Given the description of an element on the screen output the (x, y) to click on. 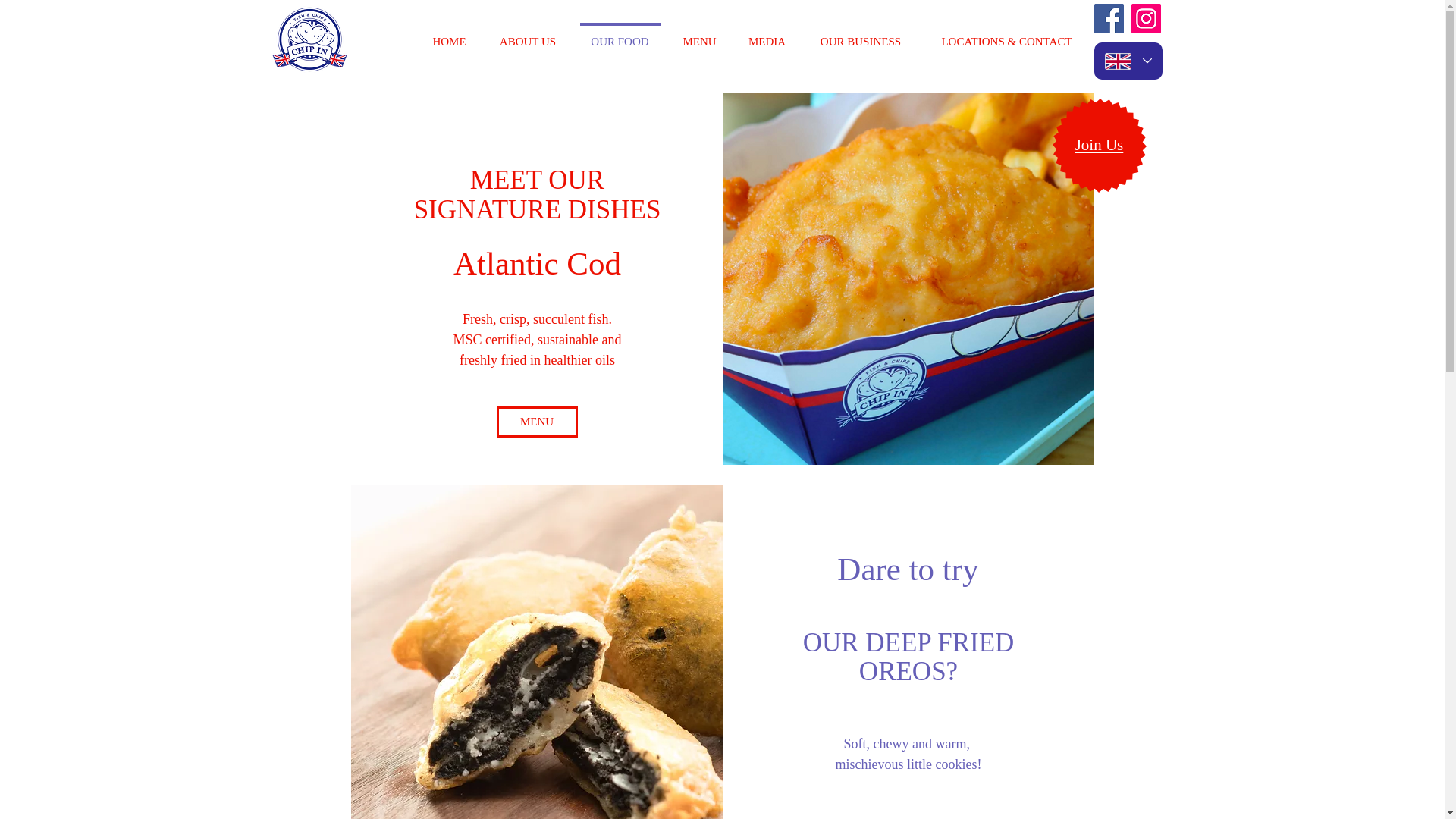
Join Us (1099, 145)
ABOUT US (526, 34)
OUR BUSINESS (861, 34)
OUR FOOD (619, 34)
HOME (447, 34)
MENU (699, 34)
MENU (536, 421)
MEDIA (767, 34)
